Given the description of an element on the screen output the (x, y) to click on. 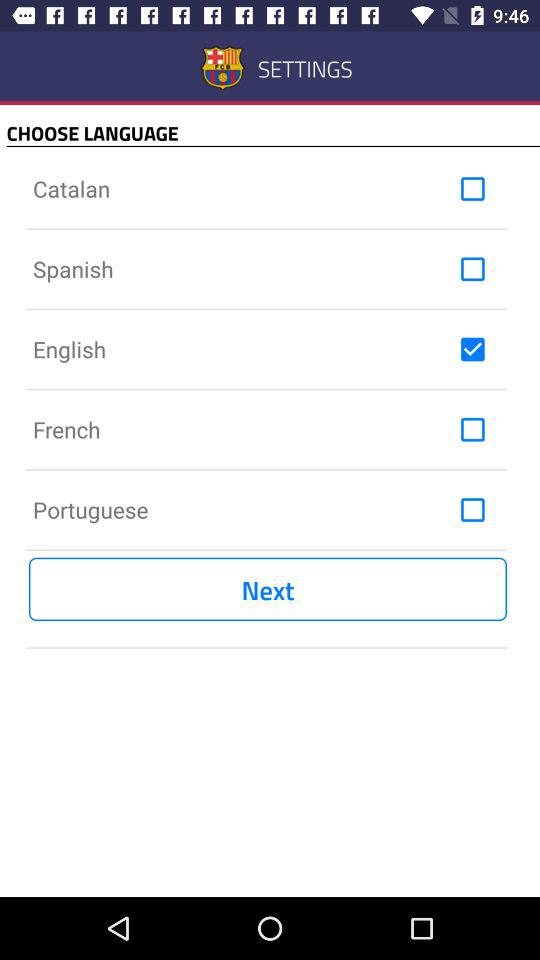
specify one descriptive (472, 349)
